Given the description of an element on the screen output the (x, y) to click on. 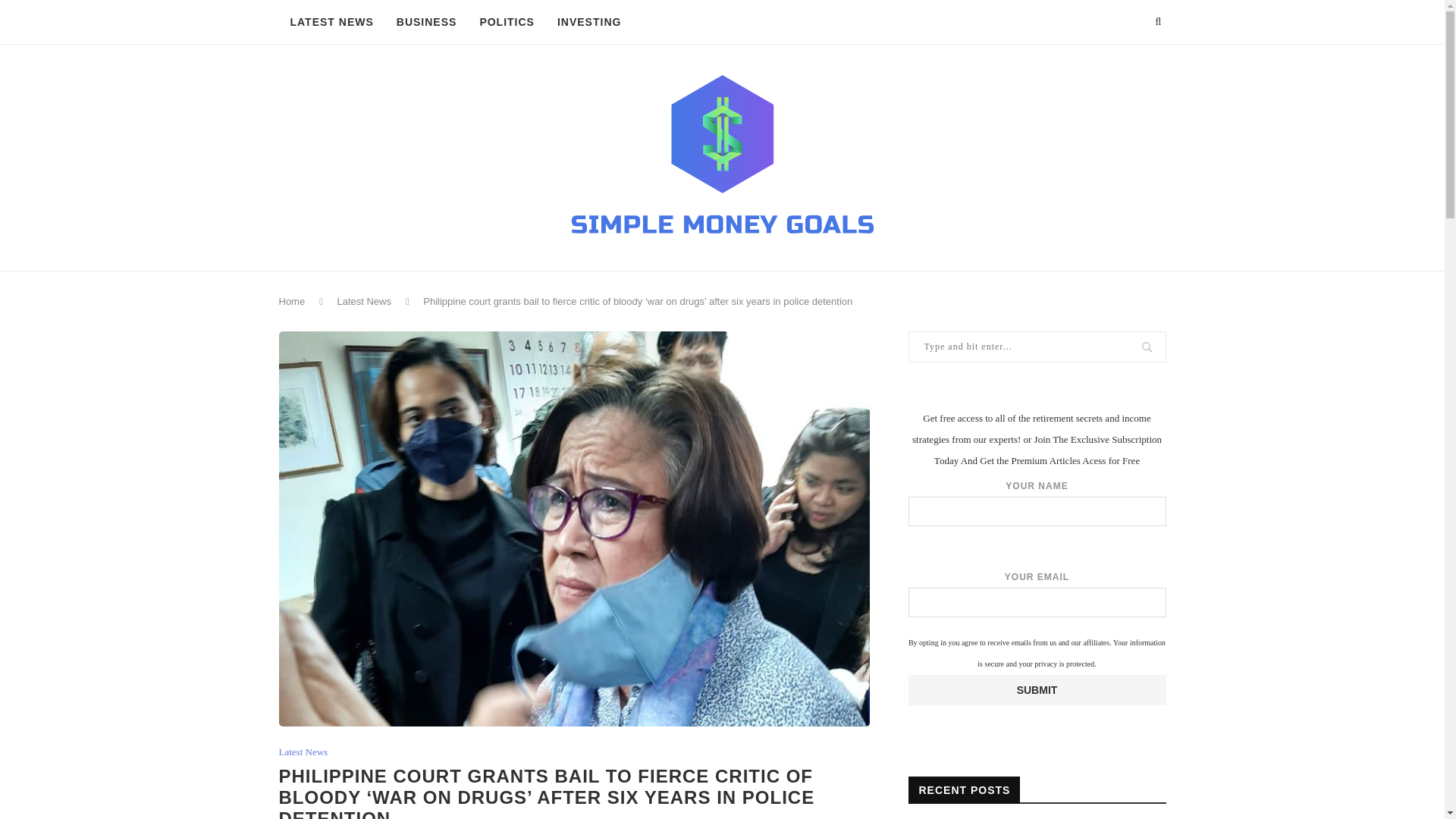
Latest News (304, 752)
Home (292, 301)
POLITICS (506, 22)
Latest News (363, 301)
BUSINESS (426, 22)
INVESTING (588, 22)
LATEST NEWS (332, 22)
Submit (1037, 689)
